Given the description of an element on the screen output the (x, y) to click on. 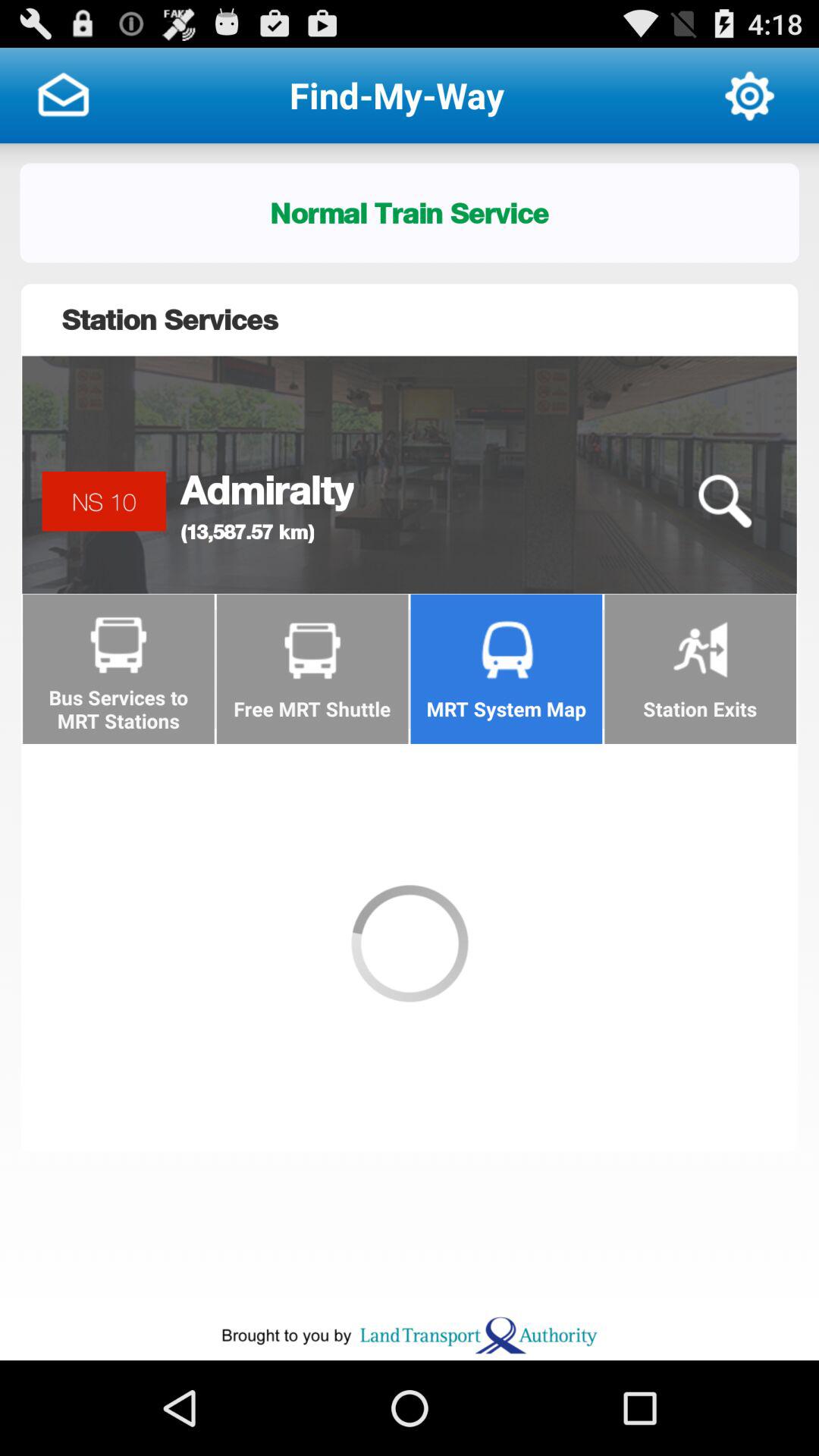
open options (749, 95)
